Given the description of an element on the screen output the (x, y) to click on. 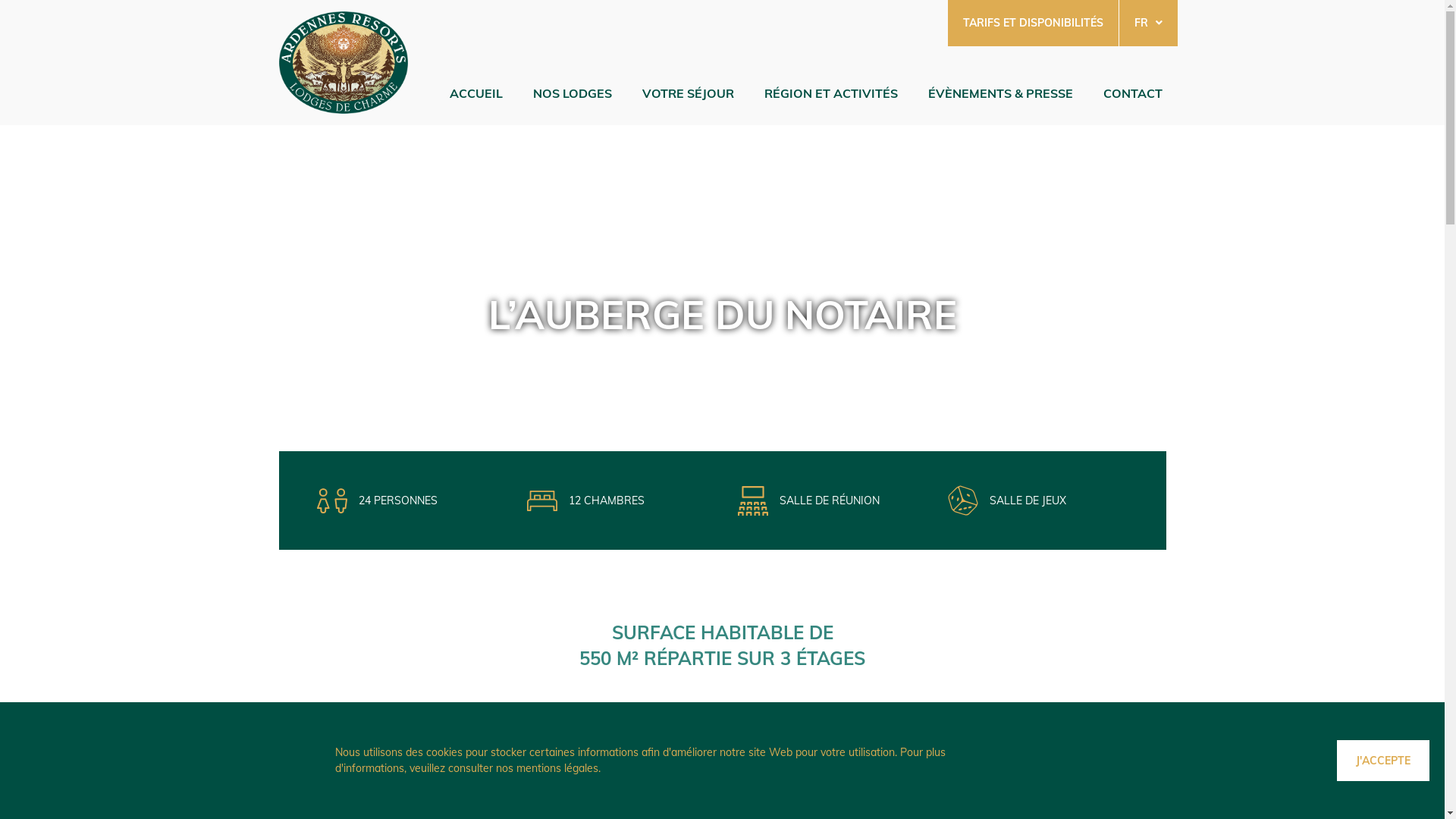
J'ACCEPTE Element type: text (1382, 760)
CONTACT Element type: text (1131, 89)
ACCUEIL Element type: text (475, 89)
